Given the description of an element on the screen output the (x, y) to click on. 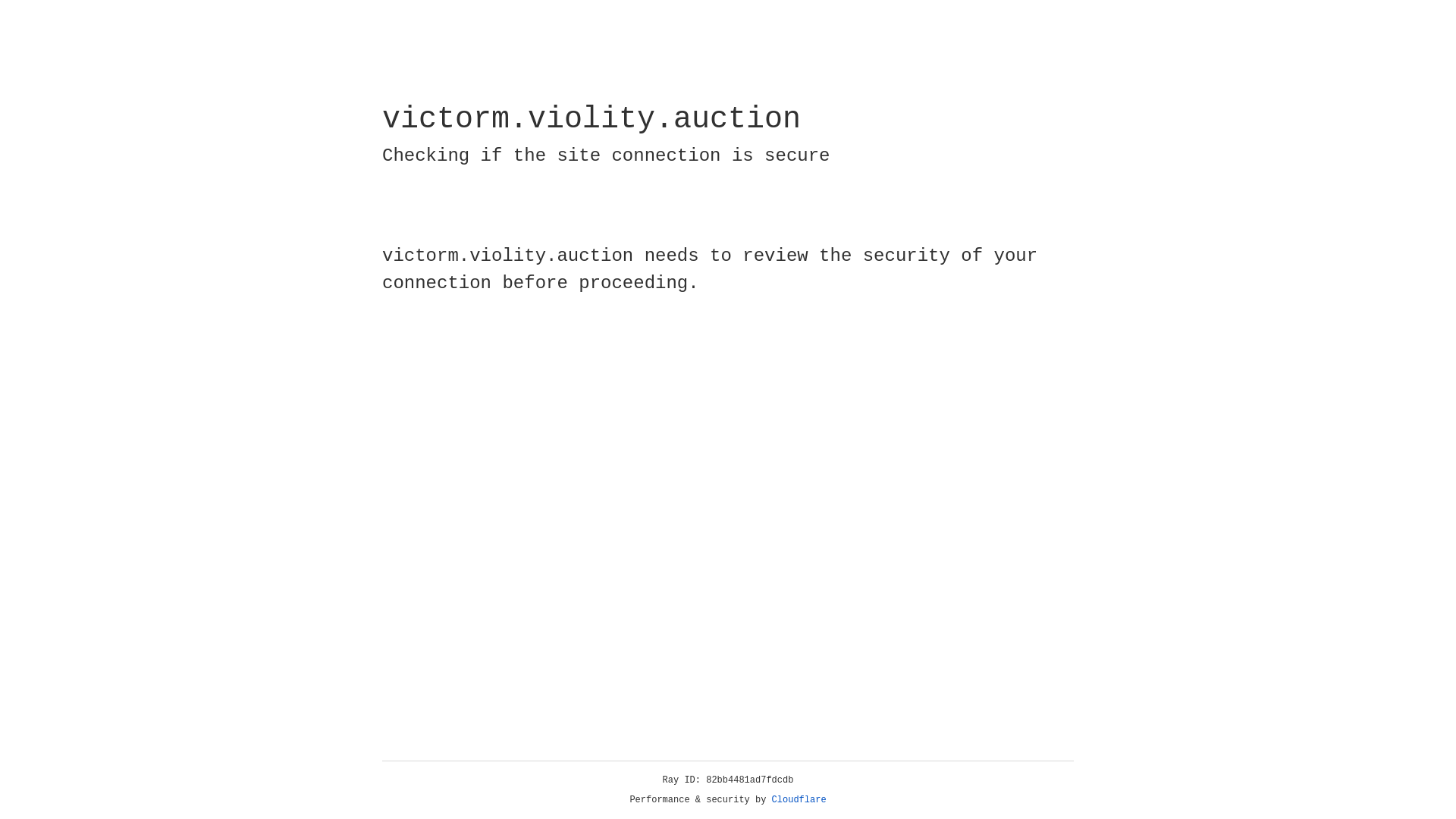
Cloudflare Element type: text (798, 799)
